Given the description of an element on the screen output the (x, y) to click on. 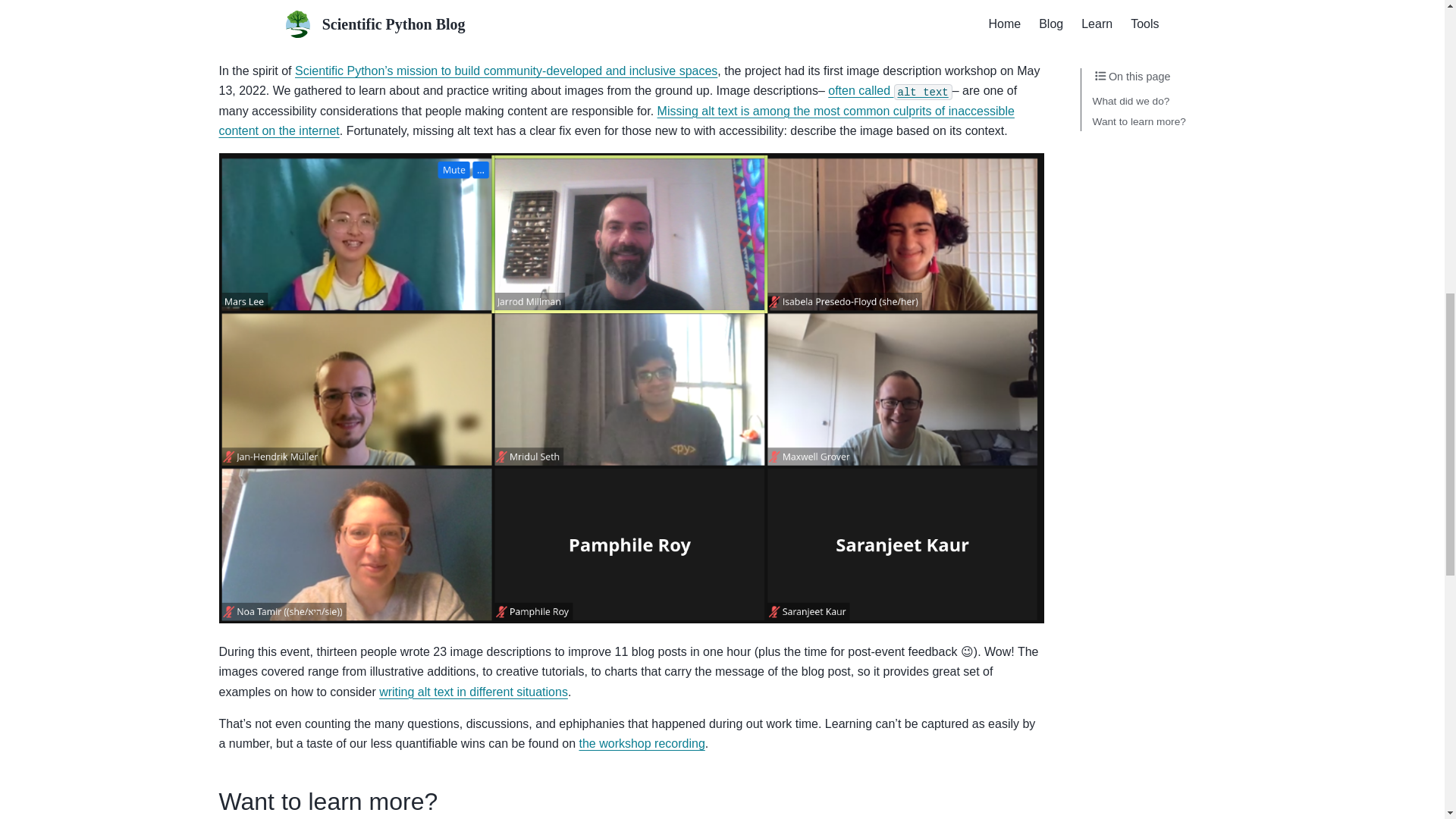
often called alt text (890, 90)
the workshop recording (641, 743)
writing alt text in different situations (472, 691)
